Given the description of an element on the screen output the (x, y) to click on. 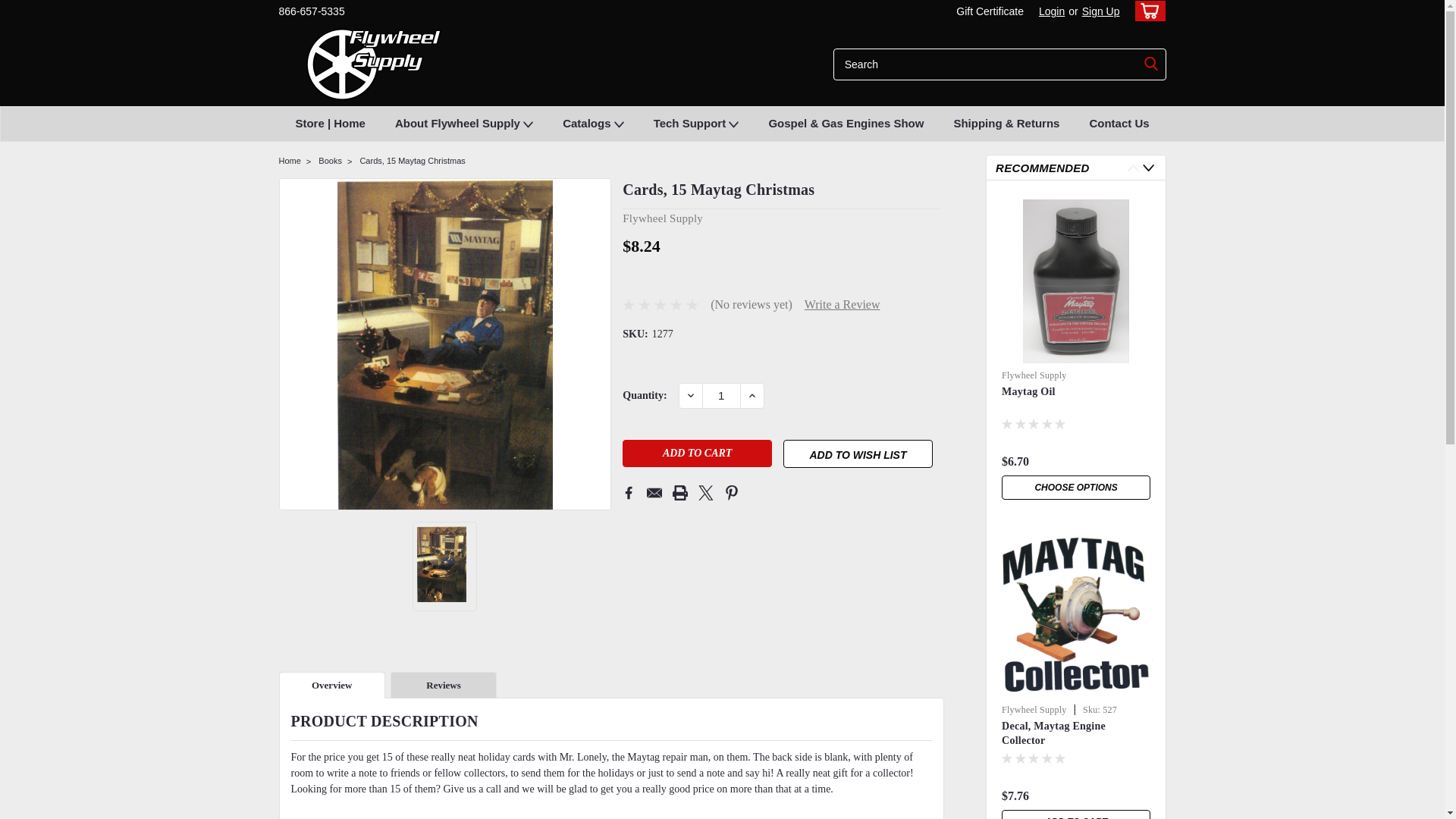
Print (679, 492)
Login (1051, 11)
Cards, 15 Maytag Christmas (444, 345)
1 (721, 395)
Gift Certificate (986, 11)
Cards, 15 Maytag Christmas (440, 563)
Twitter (705, 492)
Add to Cart (697, 452)
Decal, Maytag Engine Collector (1075, 615)
Sign Up (1098, 11)
Facebook (628, 492)
submit (1150, 63)
Email (654, 492)
Pinterest (731, 492)
PayPal Message 1 (781, 267)
